Given the description of an element on the screen output the (x, y) to click on. 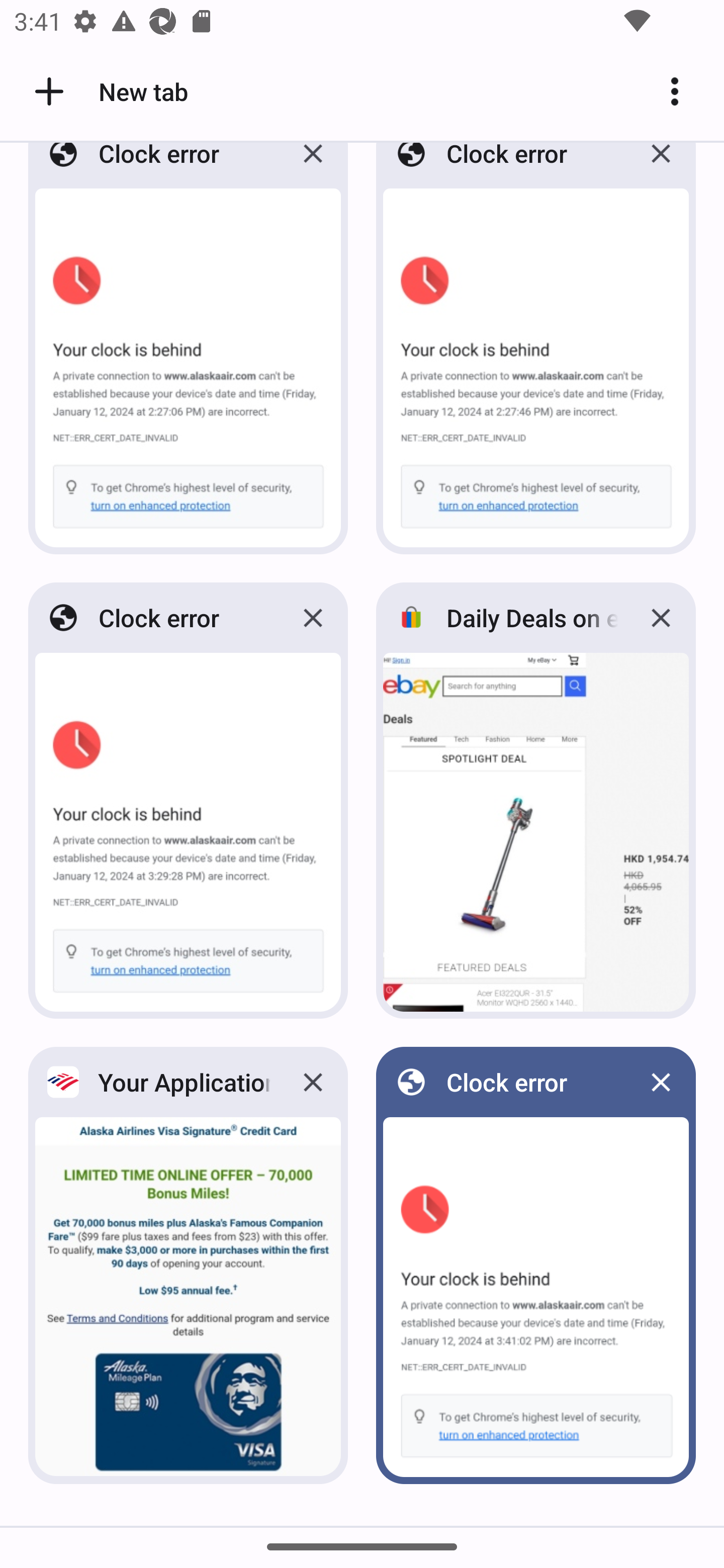
New tab (108, 91)
More options (681, 91)
Clock error Clock error, tab Close Clock error tab (187, 354)
Close Clock error tab (312, 168)
Clock error Clock error, tab Close Clock error tab (536, 354)
Close Clock error tab (660, 168)
Clock error Clock error, tab Close Clock error tab (187, 800)
Close Clock error tab (312, 617)
Clock error Clock error, tab Close Clock error tab (536, 1265)
Close Your Application tab (312, 1081)
Close Clock error tab (660, 1081)
